Given the description of an element on the screen output the (x, y) to click on. 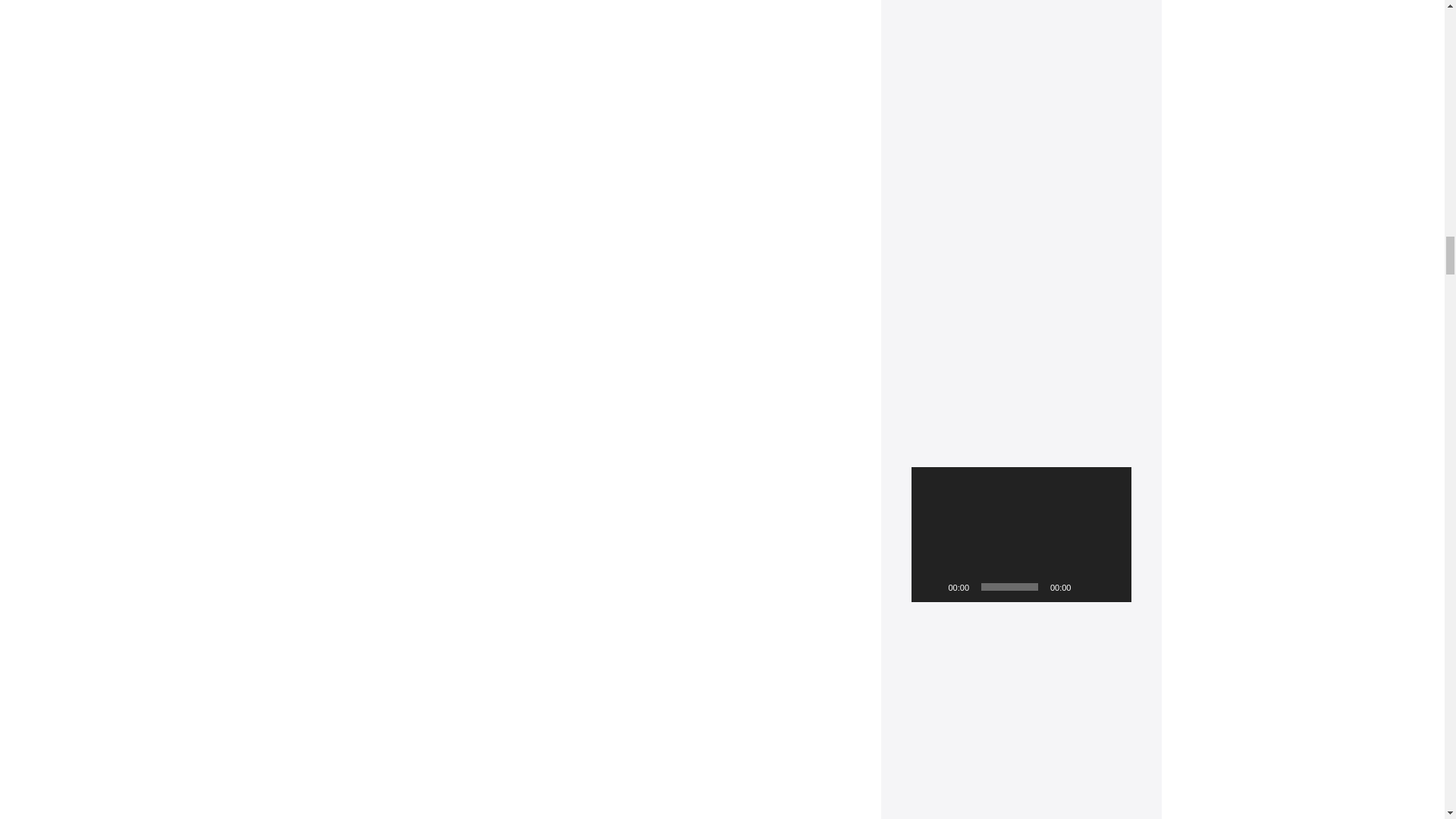
Mute (1087, 586)
Play (931, 586)
Fullscreen (1111, 586)
